Given the description of an element on the screen output the (x, y) to click on. 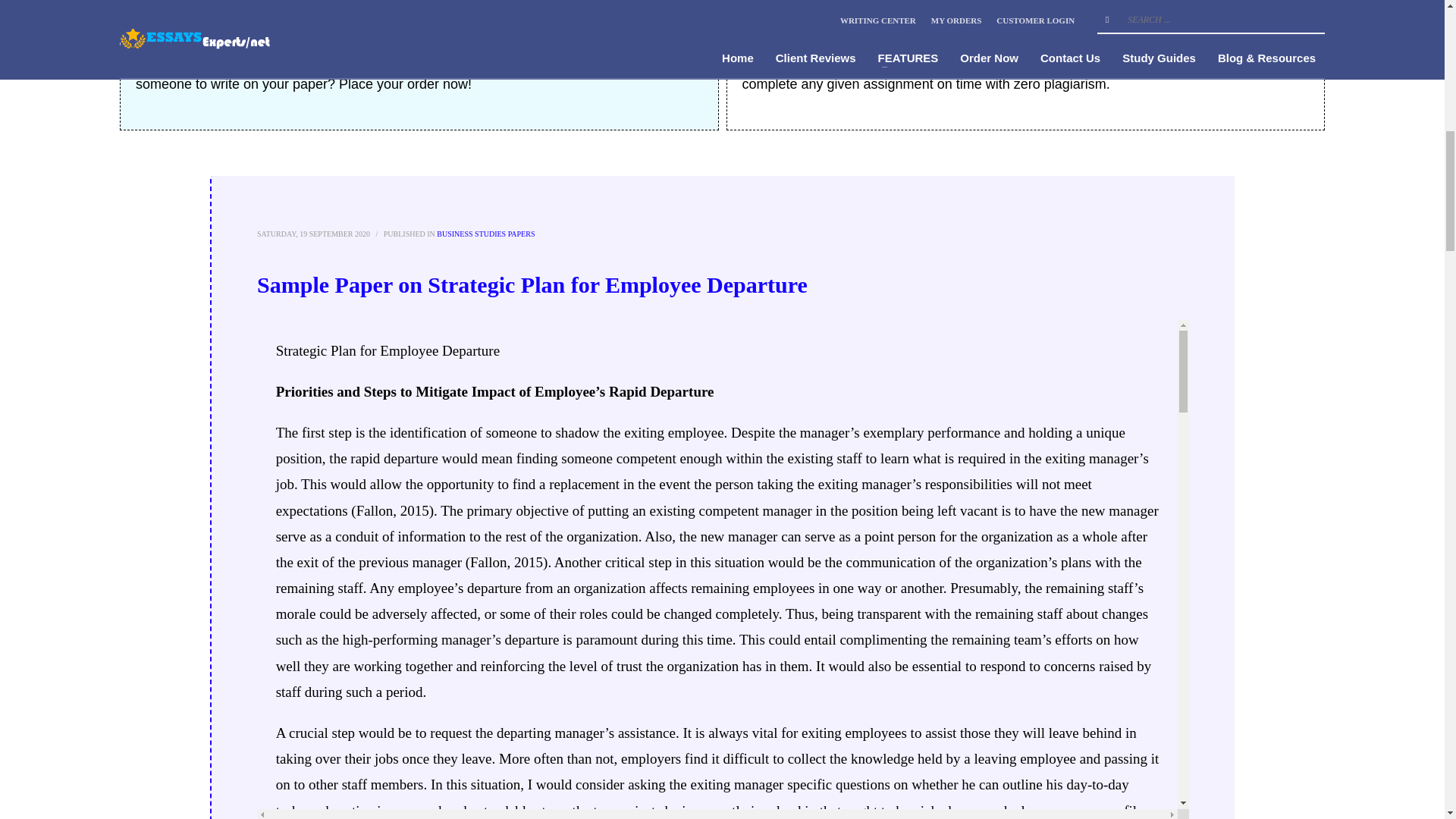
BUSINESS STUDIES PAPERS (485, 234)
